Given the description of an element on the screen output the (x, y) to click on. 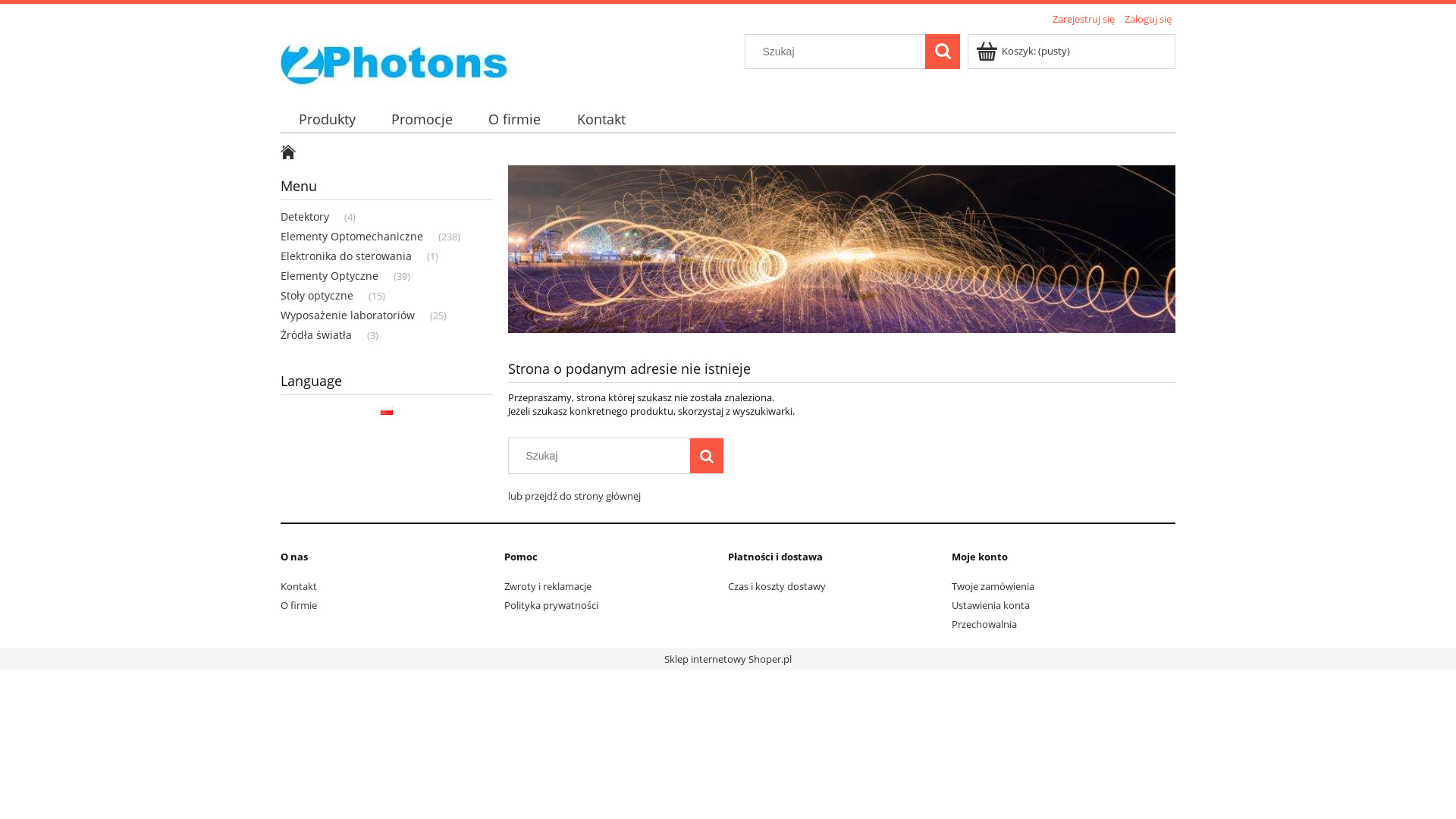
Koszyk: (pusty) Element type: text (1024, 50)
Kontakt Element type: text (298, 586)
Elektronika do sterowania Element type: text (353, 255)
Sklep internetowy Shoper.pl Element type: text (727, 658)
O firmie Element type: text (298, 604)
Ustawienia konta Element type: text (990, 604)
Elementy Optyczne Element type: text (336, 275)
polski / Polska Element type: hover (386, 409)
Produkty Element type: text (326, 119)
Przechowalnia Element type: text (983, 623)
Kontakt Element type: text (600, 119)
Zwroty i reklamacje Element type: text (547, 586)
O firmie Element type: text (514, 119)
Detektory Element type: text (312, 216)
Promocje Element type: text (421, 119)
Czas i koszty dostawy Element type: text (776, 586)
Elementy Optomechaniczne Element type: text (359, 236)
